Given the description of an element on the screen output the (x, y) to click on. 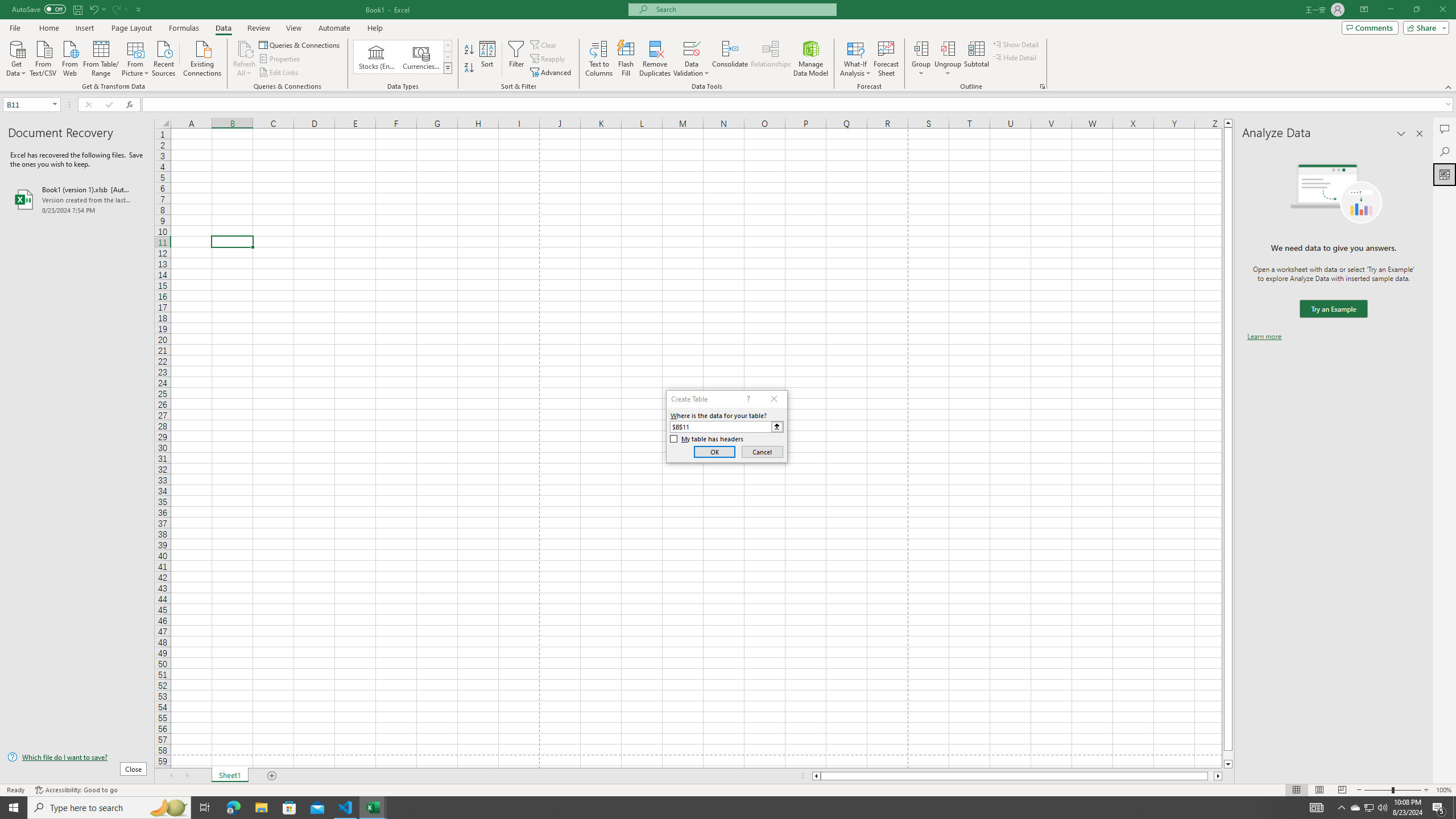
We need data to give you answers. Try an Example (1333, 308)
Learn more (1264, 336)
Relationships (770, 58)
